Given the description of an element on the screen output the (x, y) to click on. 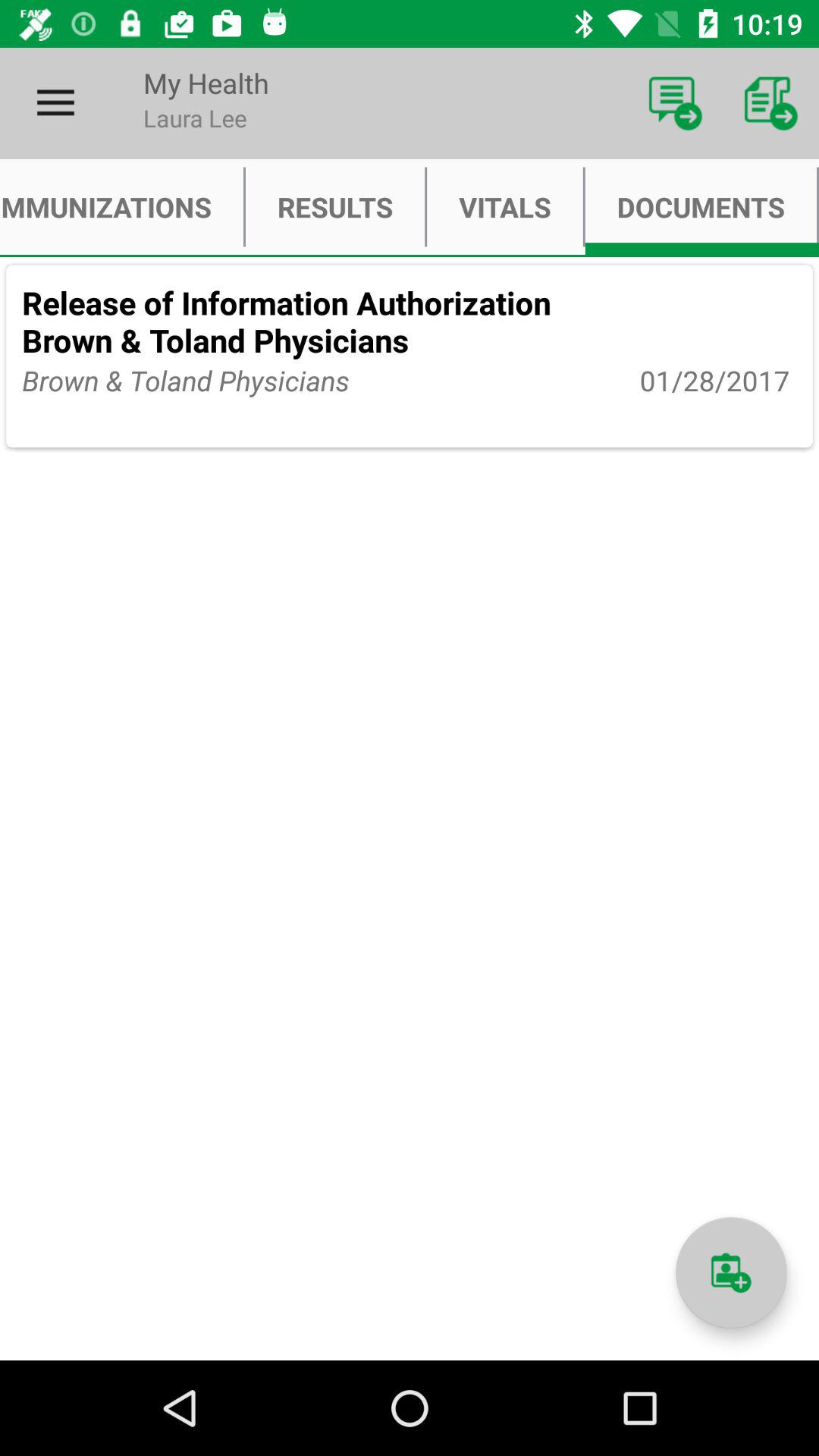
press icon below the 01/28/2017  item (731, 1272)
